Given the description of an element on the screen output the (x, y) to click on. 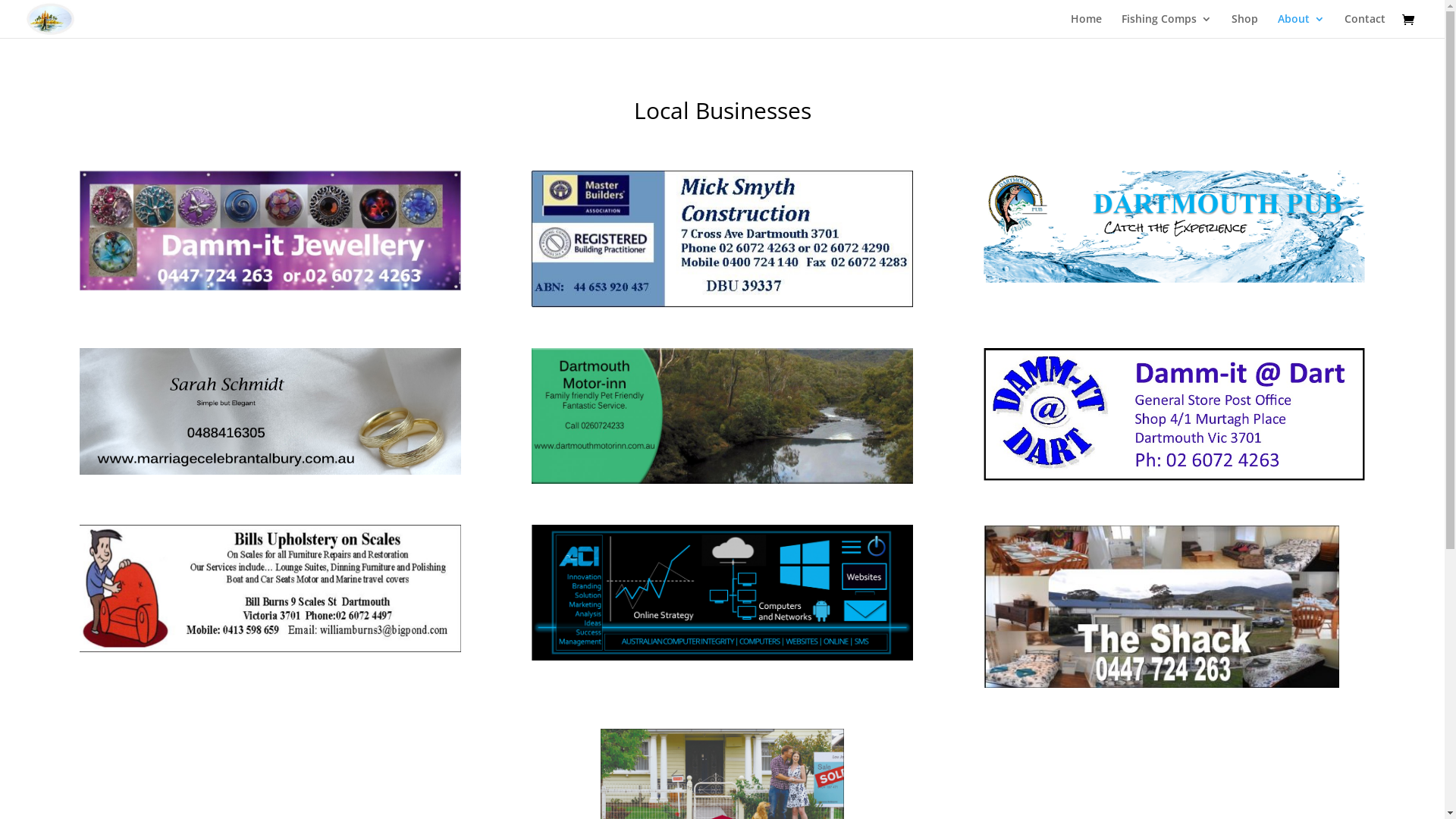
Fishing Comps Element type: text (1166, 25)
About Element type: text (1300, 25)
Contact Element type: text (1364, 25)
Home Element type: text (1085, 25)
Shop Element type: text (1244, 25)
